Given the description of an element on the screen output the (x, y) to click on. 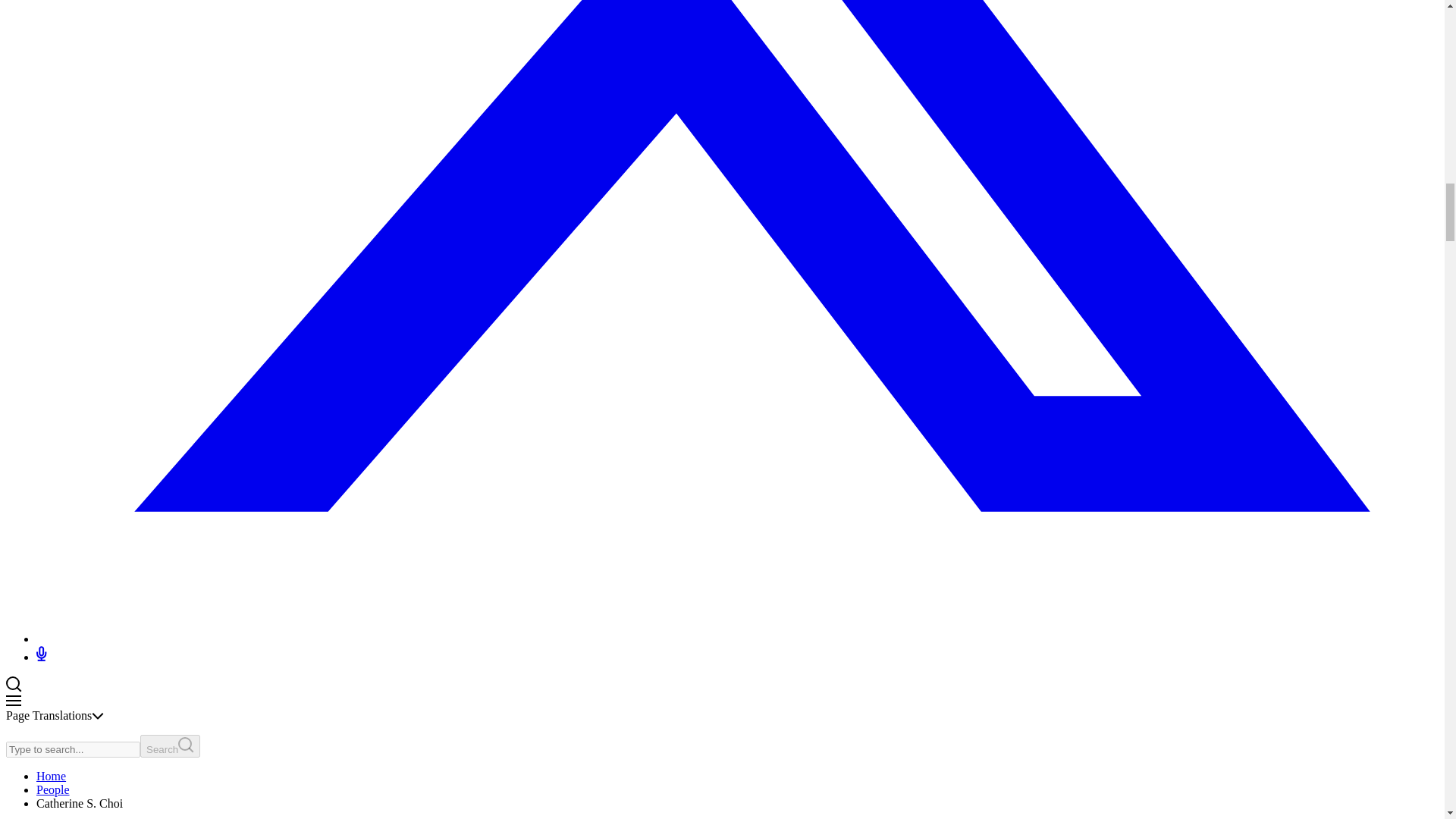
Search (169, 745)
Page Translations (54, 715)
People (52, 789)
Home (50, 775)
